Given the description of an element on the screen output the (x, y) to click on. 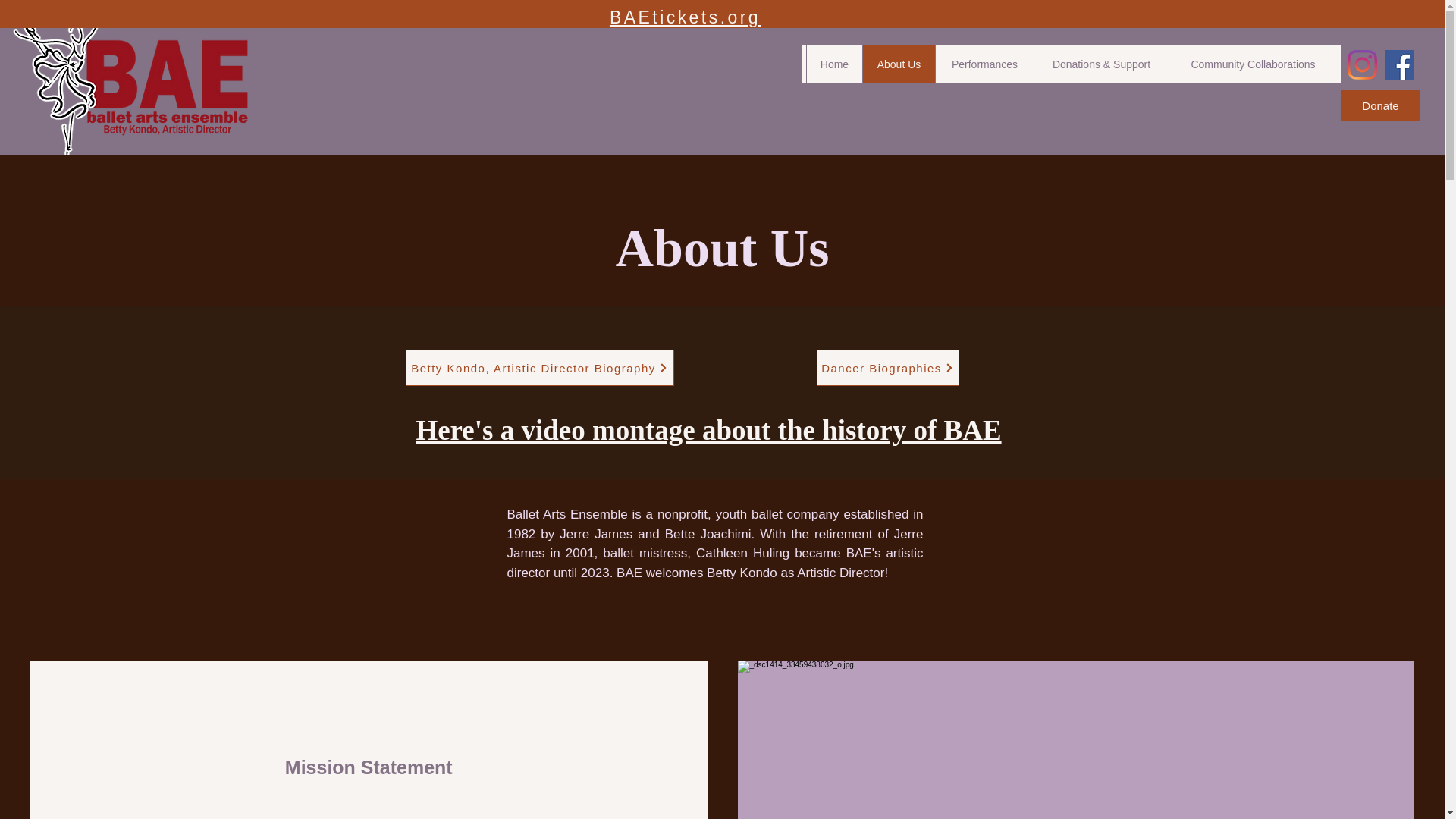
Here's a video montage about the history of BAE (707, 429)
Betty Kondo, Artistic Director Biography (538, 367)
Donate (1379, 105)
About Us (897, 64)
Community Collaborations (1252, 64)
Home (833, 64)
BAEtickets.org (685, 17)
Performances (983, 64)
Dancer Biographies (886, 367)
